Given the description of an element on the screen output the (x, y) to click on. 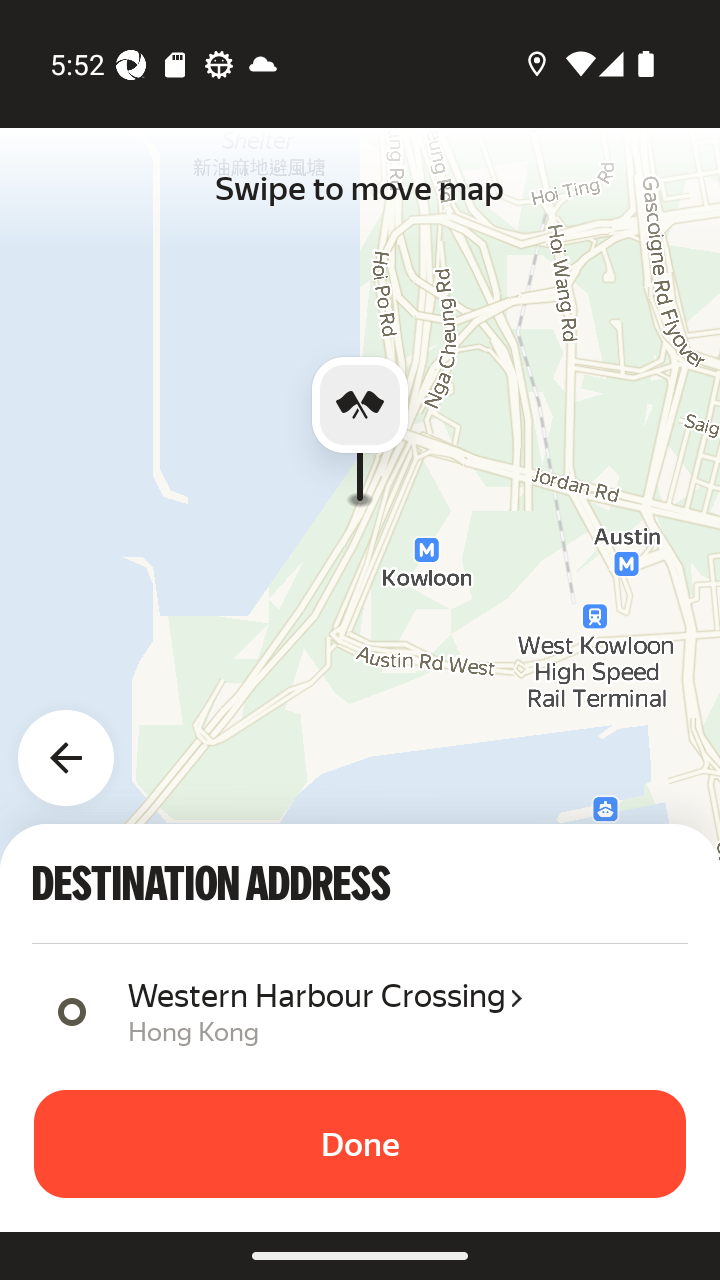
Back (78, 746)
Western Harbour Crossing   Hong Kong (399, 1010)
Done (359, 1144)
